Given the description of an element on the screen output the (x, y) to click on. 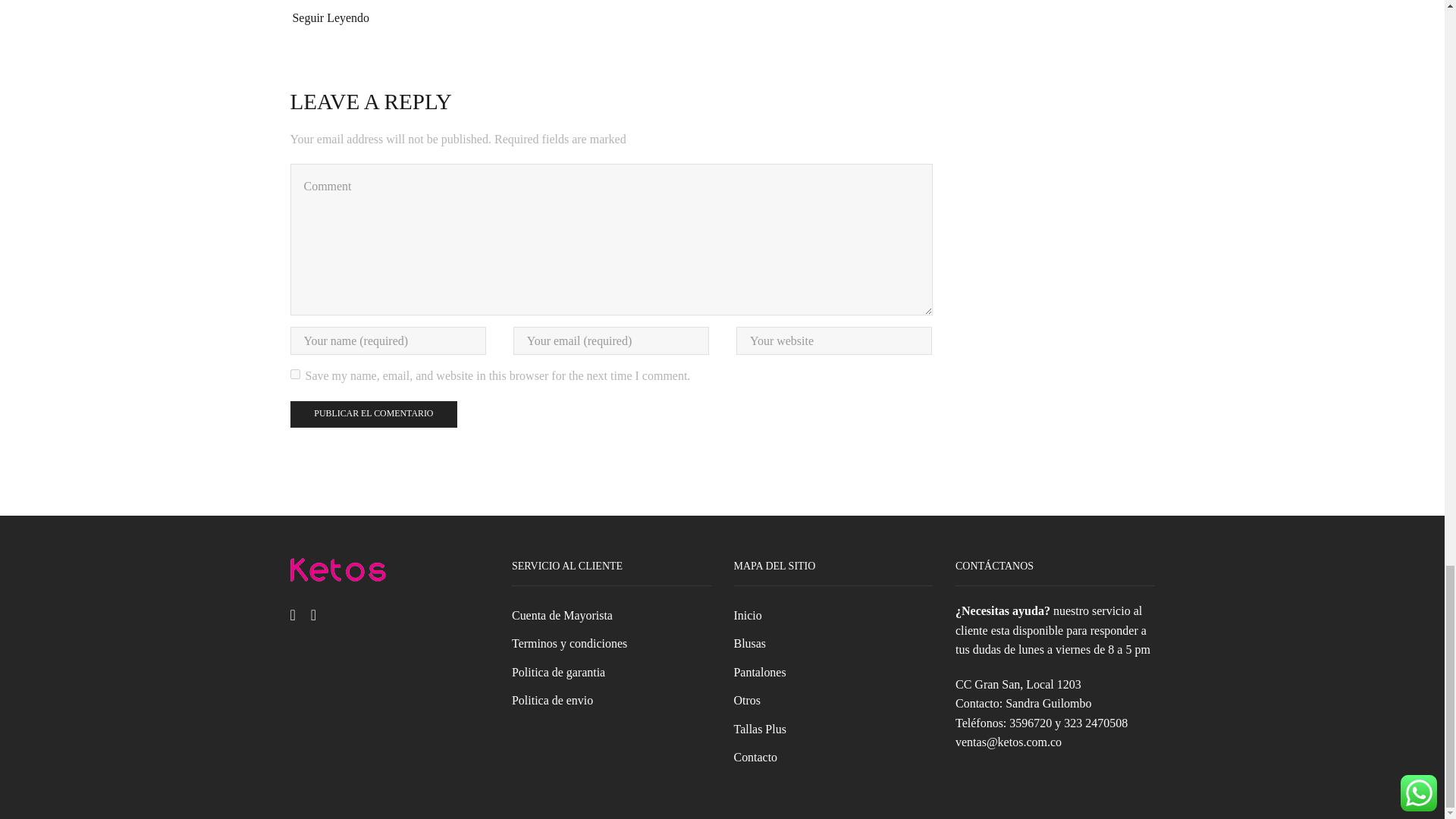
yes (294, 374)
Publicar el comentario (373, 414)
